Given the description of an element on the screen output the (x, y) to click on. 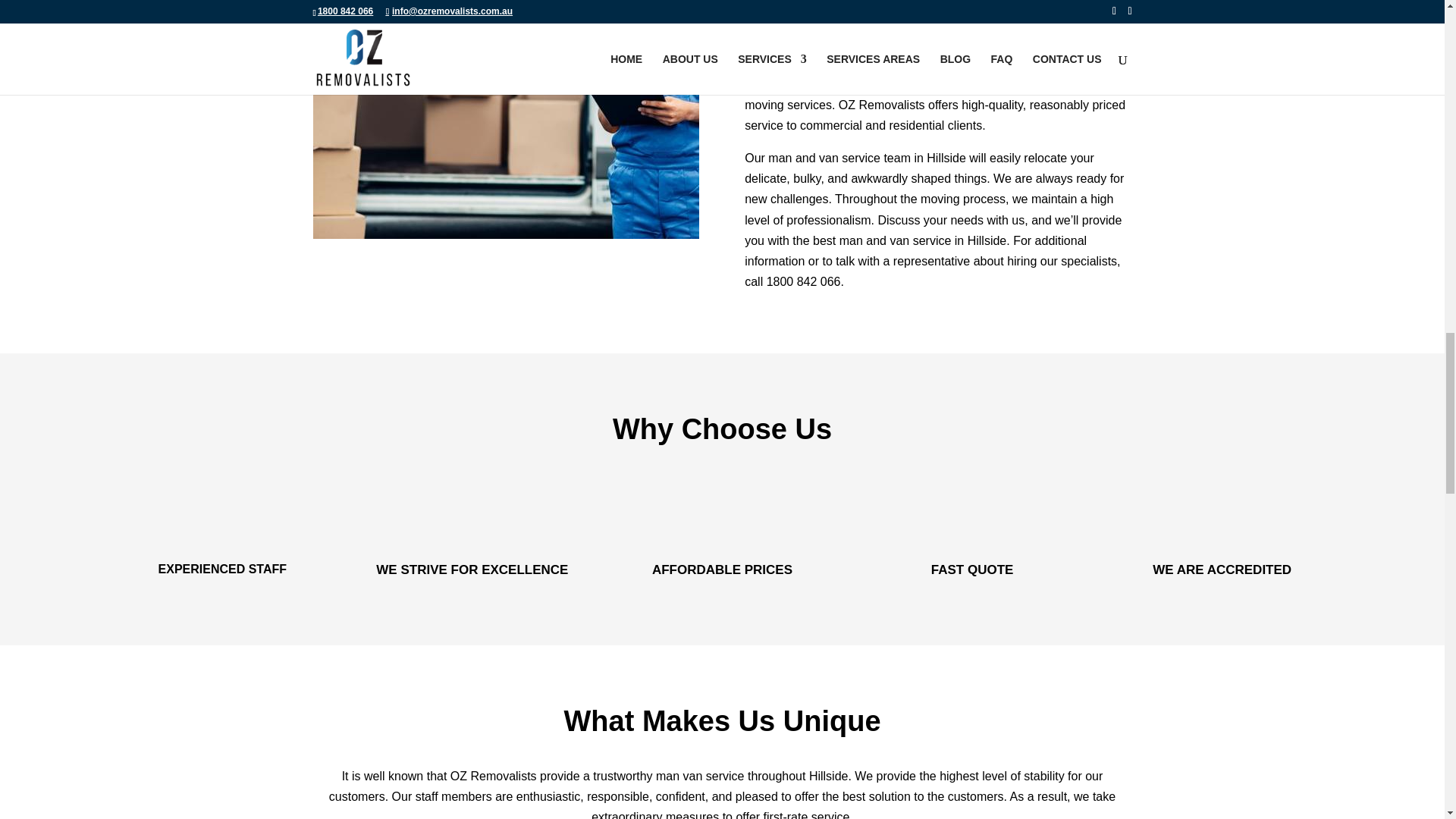
The Most Trusted Movers (505, 119)
